Given the description of an element on the screen output the (x, y) to click on. 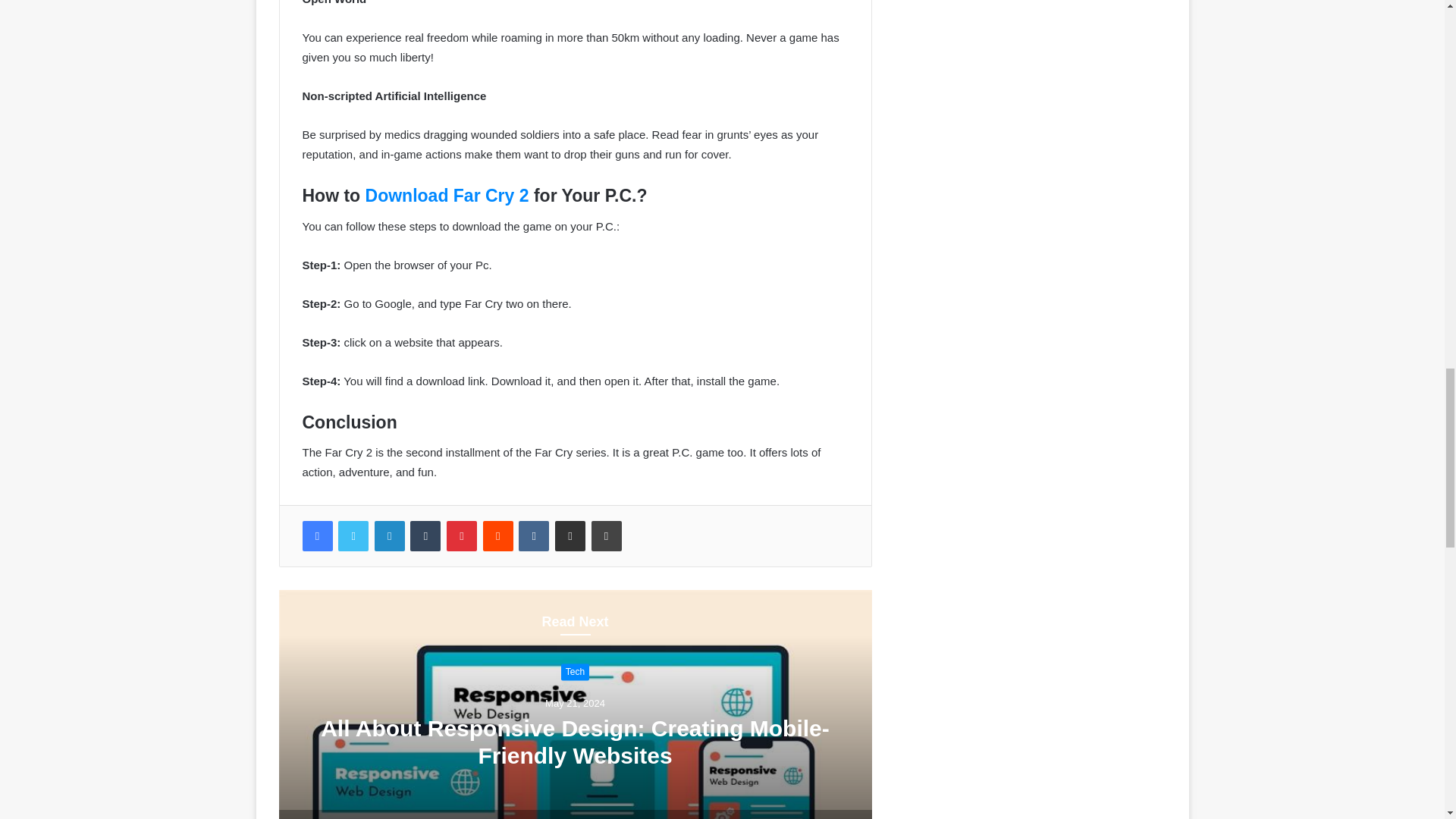
Pinterest (461, 535)
Facebook (316, 535)
Tech (574, 671)
VKontakte (533, 535)
Twitter (352, 535)
LinkedIn (389, 535)
Tumblr (425, 535)
Pinterest (461, 535)
Reddit (498, 535)
Facebook (316, 535)
LinkedIn (389, 535)
Reddit (498, 535)
Download Far Cry 2 (447, 195)
VKontakte (533, 535)
